Given the description of an element on the screen output the (x, y) to click on. 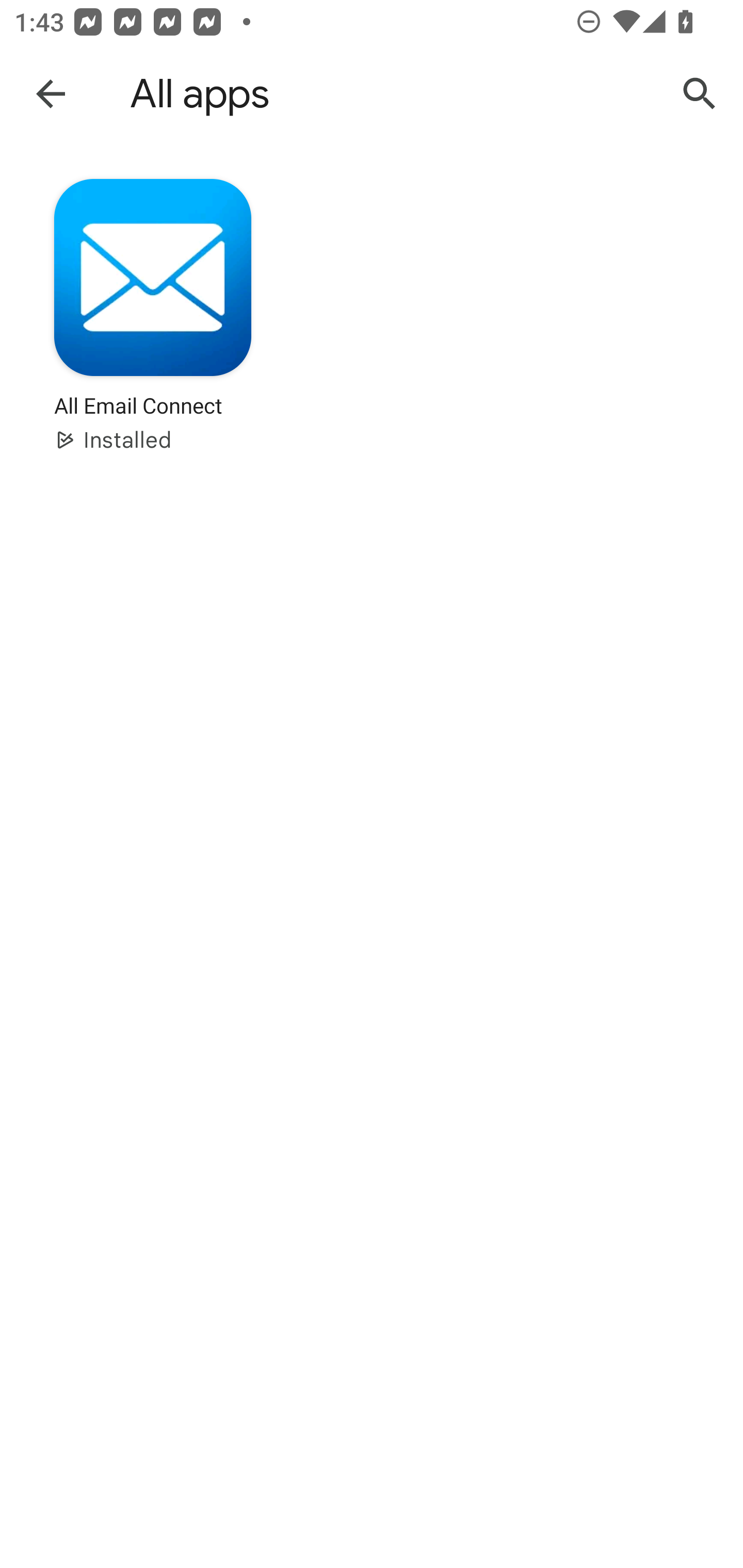
Navigate up (50, 92)
Search Google Play (699, 93)
App: All Email Connect
Installed

 (152, 328)
